Given the description of an element on the screen output the (x, y) to click on. 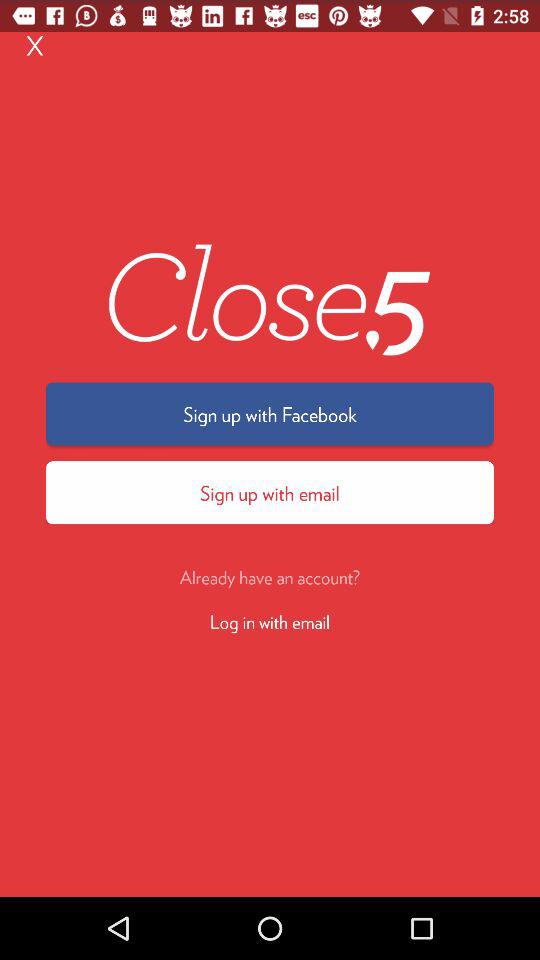
press the icon below the already have an item (269, 620)
